Given the description of an element on the screen output the (x, y) to click on. 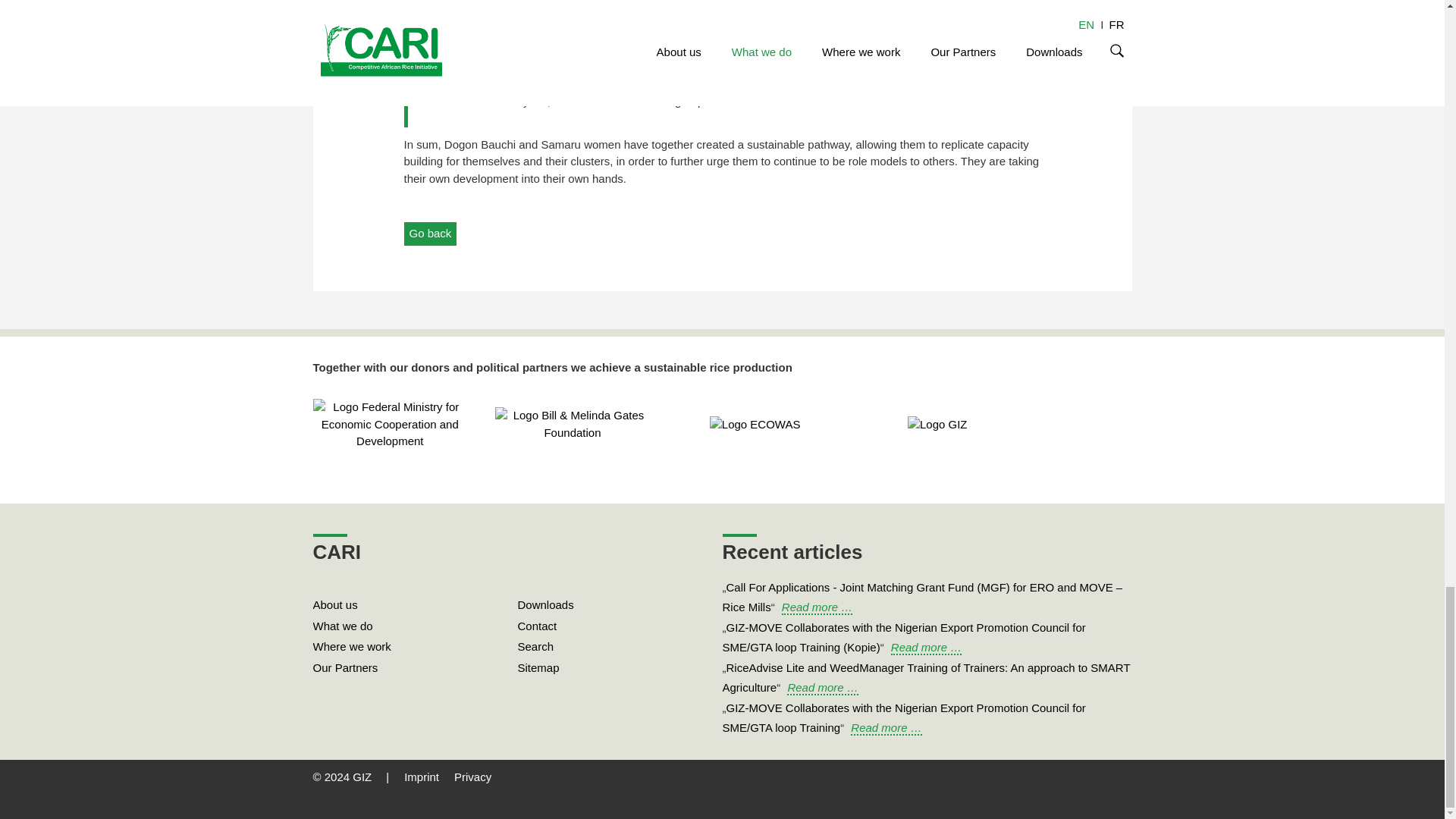
Downloads (544, 604)
Our Partners (345, 667)
Sitemap (537, 667)
What we do (342, 625)
Contact (536, 625)
ECOWAS - Open in new window (755, 422)
Where we work (351, 645)
Go back (430, 233)
About us (334, 604)
Search (534, 645)
Go back (430, 233)
